Given the description of an element on the screen output the (x, y) to click on. 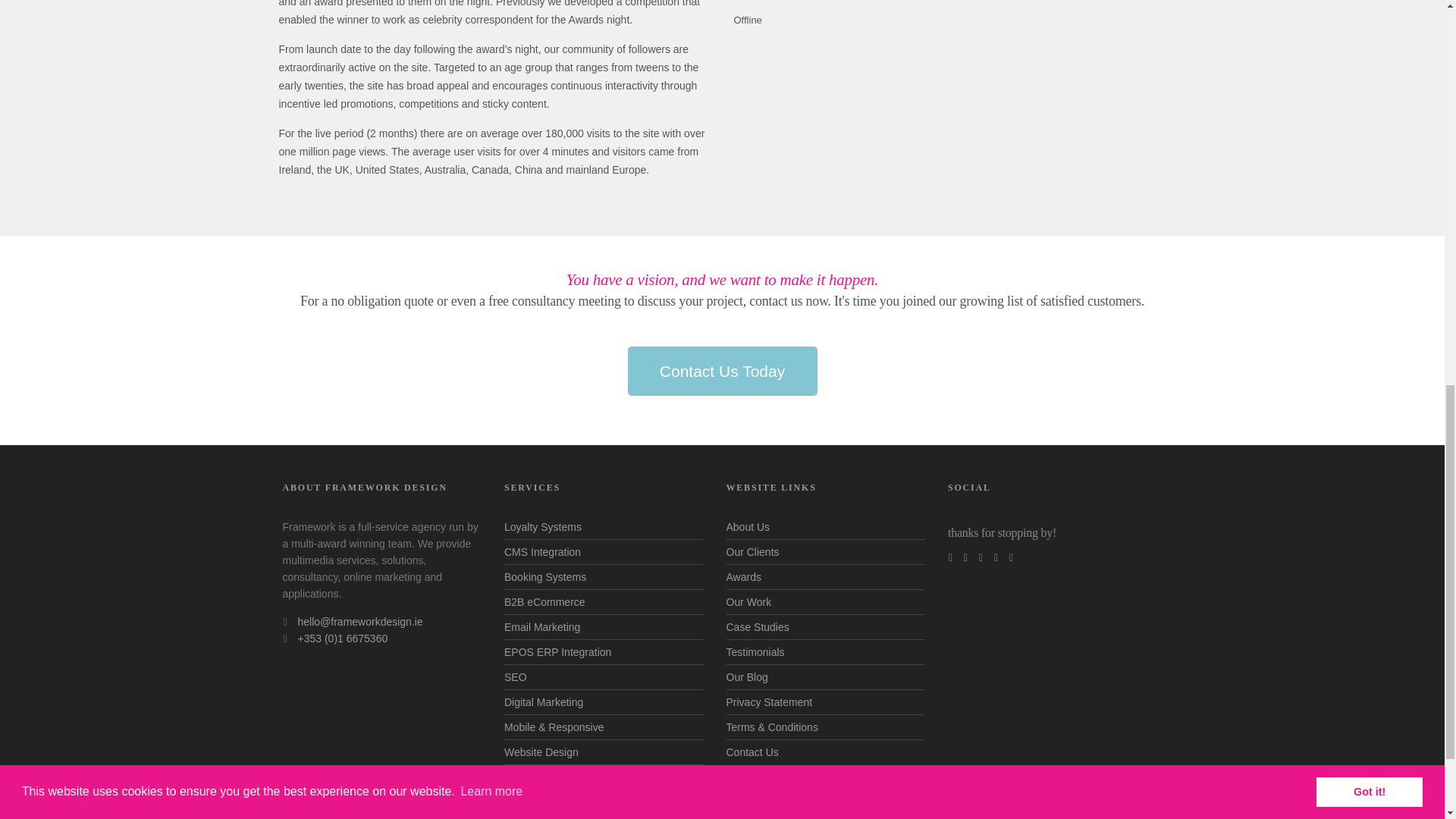
Loyalty Systems (541, 526)
EPOS ERP Integration (557, 652)
Booking Systems (544, 576)
Contact Us Today (721, 370)
SEO (515, 676)
B2B eCommerce (544, 602)
Email Marketing (541, 626)
CMS Integration (541, 551)
